Given the description of an element on the screen output the (x, y) to click on. 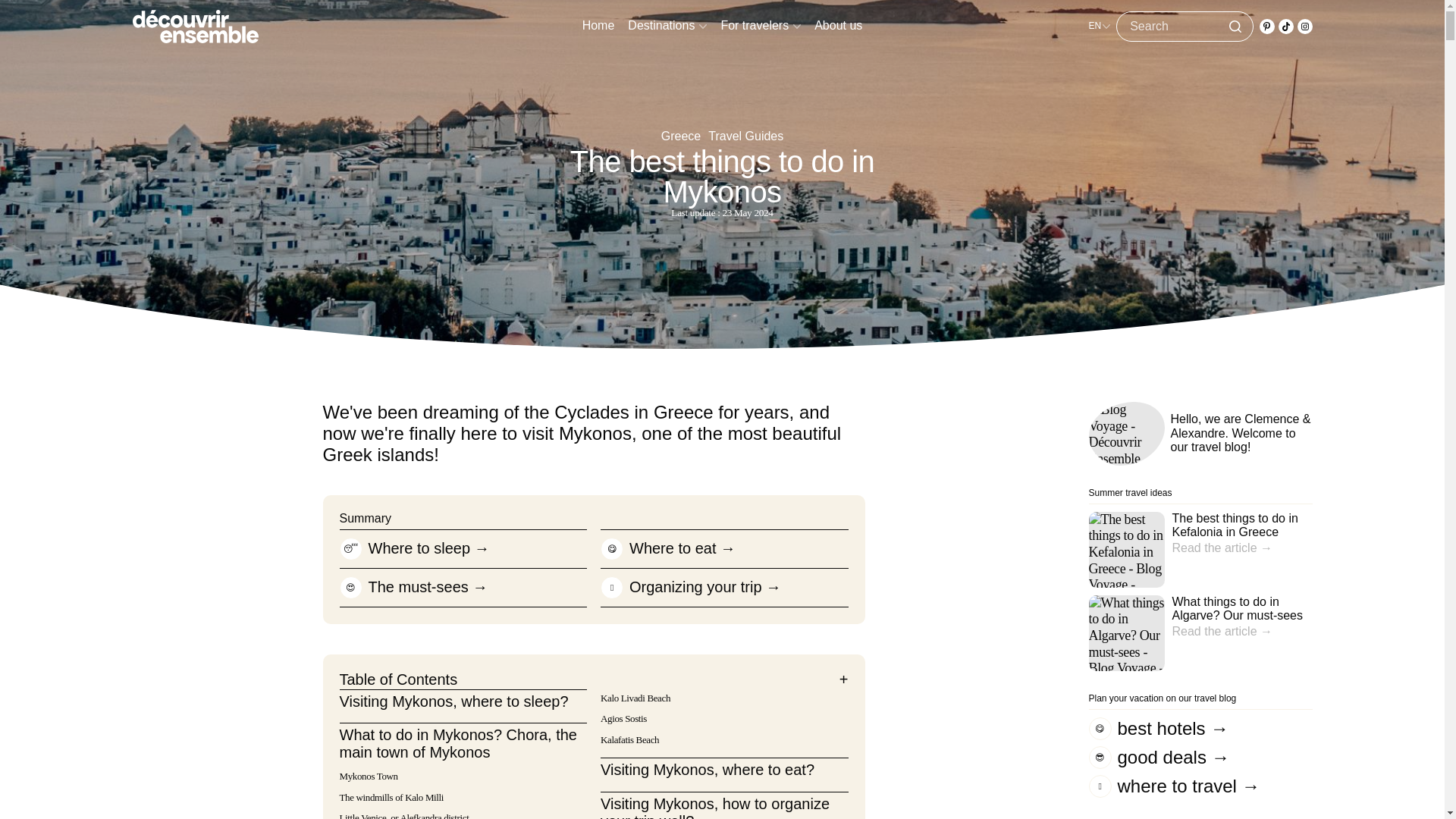
Pinterest (1266, 26)
Home (598, 26)
The windmills of Kalo Milli (391, 797)
Kalo Livadi Beach (634, 698)
Search (1178, 26)
Instagram (1304, 26)
About us (837, 26)
Visiting Mykonos, where to sleep? (454, 701)
Visiting Mykonos, where to sleep? (454, 701)
Little Venice, or Alefkandra district (403, 815)
